Given the description of an element on the screen output the (x, y) to click on. 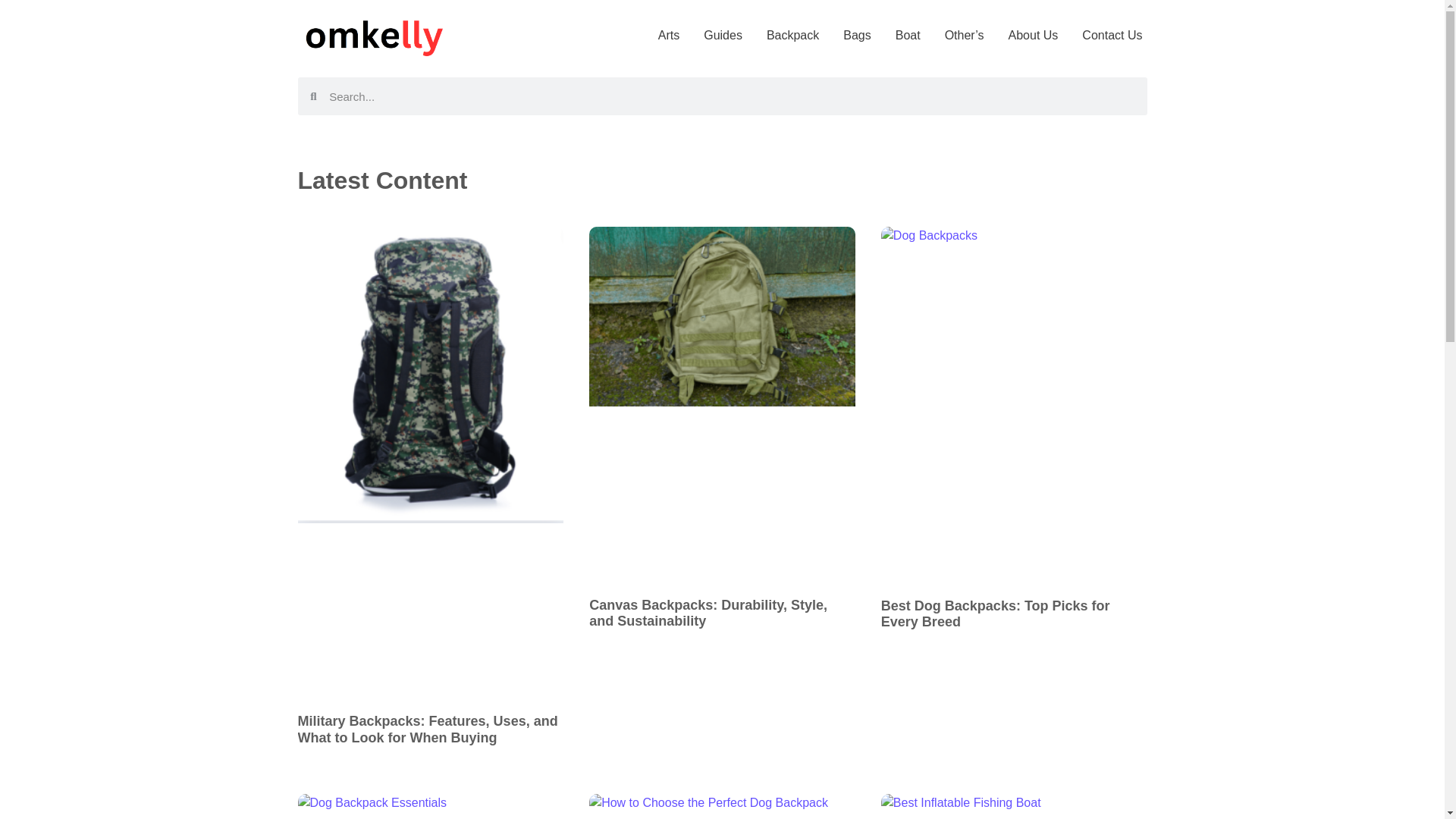
About Us (1032, 35)
Contact Us (1112, 35)
Backpack (792, 35)
Search (732, 95)
Guides (722, 35)
